Given the description of an element on the screen output the (x, y) to click on. 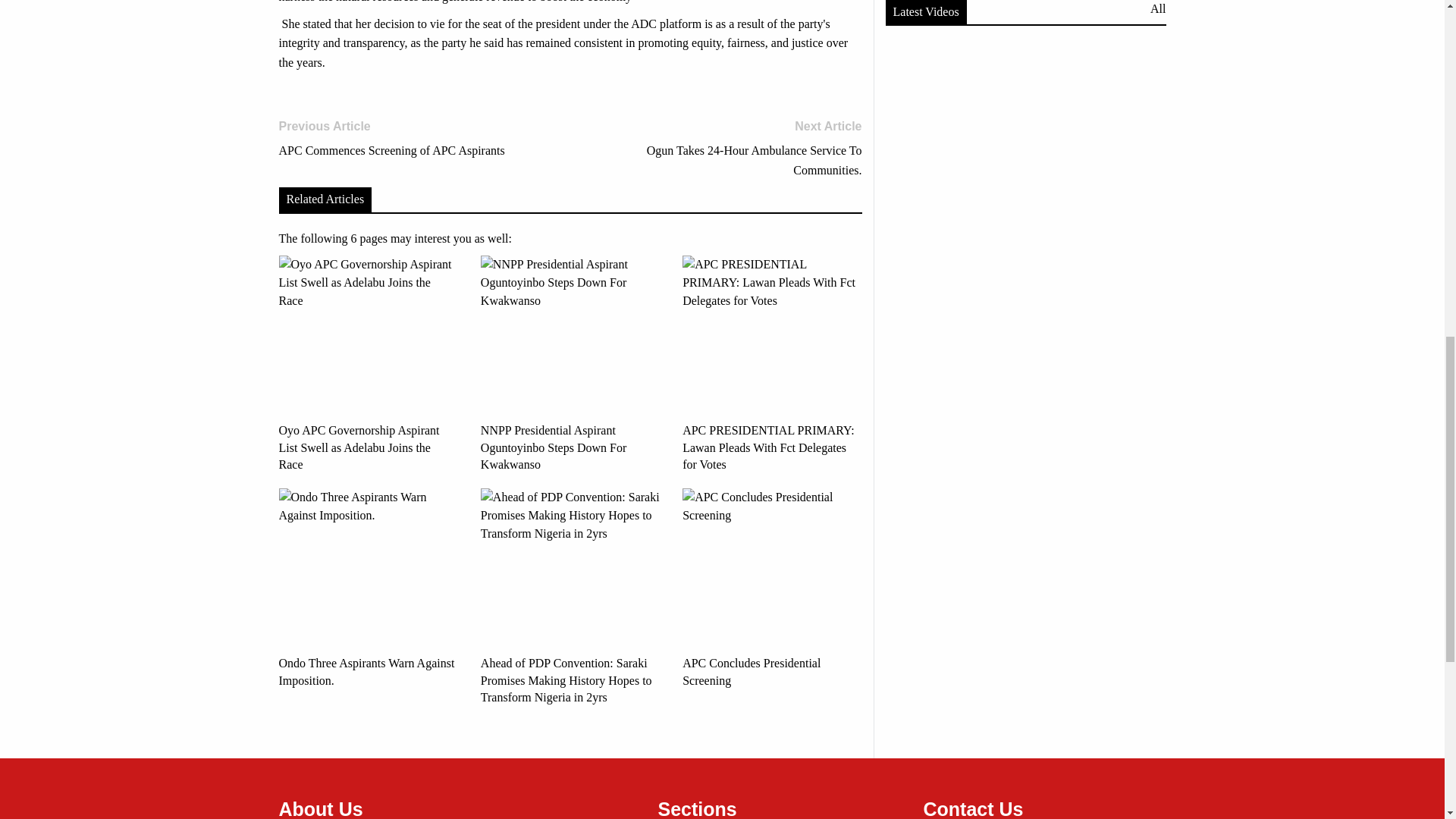
Ondo Three Aspirants Warn Against Imposition. (368, 588)
Ogun Takes 24-Hour Ambulance Service To Communities. (720, 148)
APC Concludes Presidential Screening (419, 138)
APC Commences Screening of APC Aspirants (771, 588)
